Given the description of an element on the screen output the (x, y) to click on. 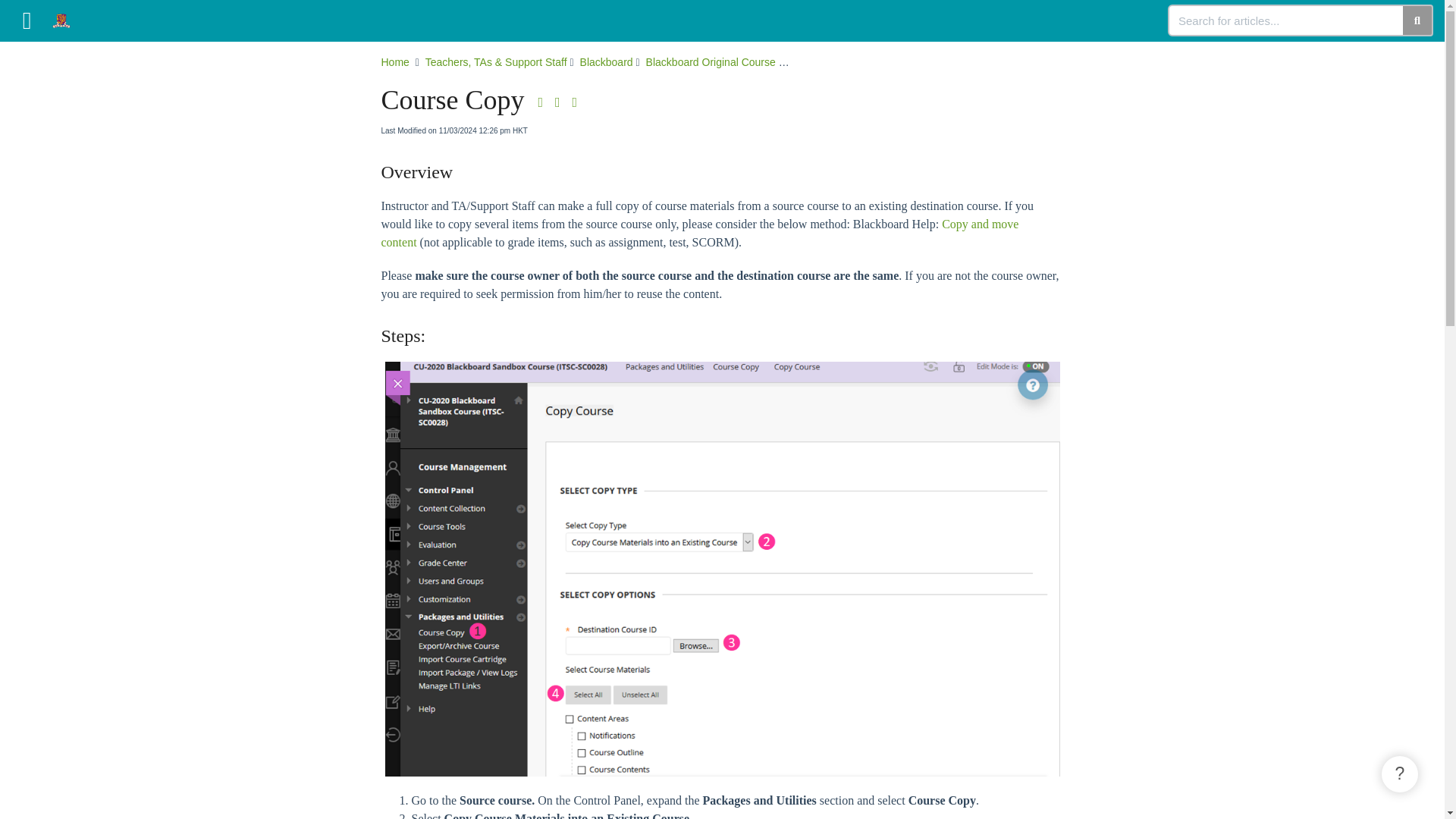
CUHK EdTech (66, 13)
Search (1417, 20)
Blackboard Original Course View (721, 62)
Download PDF (541, 102)
Blackboard (607, 62)
Search (1286, 20)
